Given the description of an element on the screen output the (x, y) to click on. 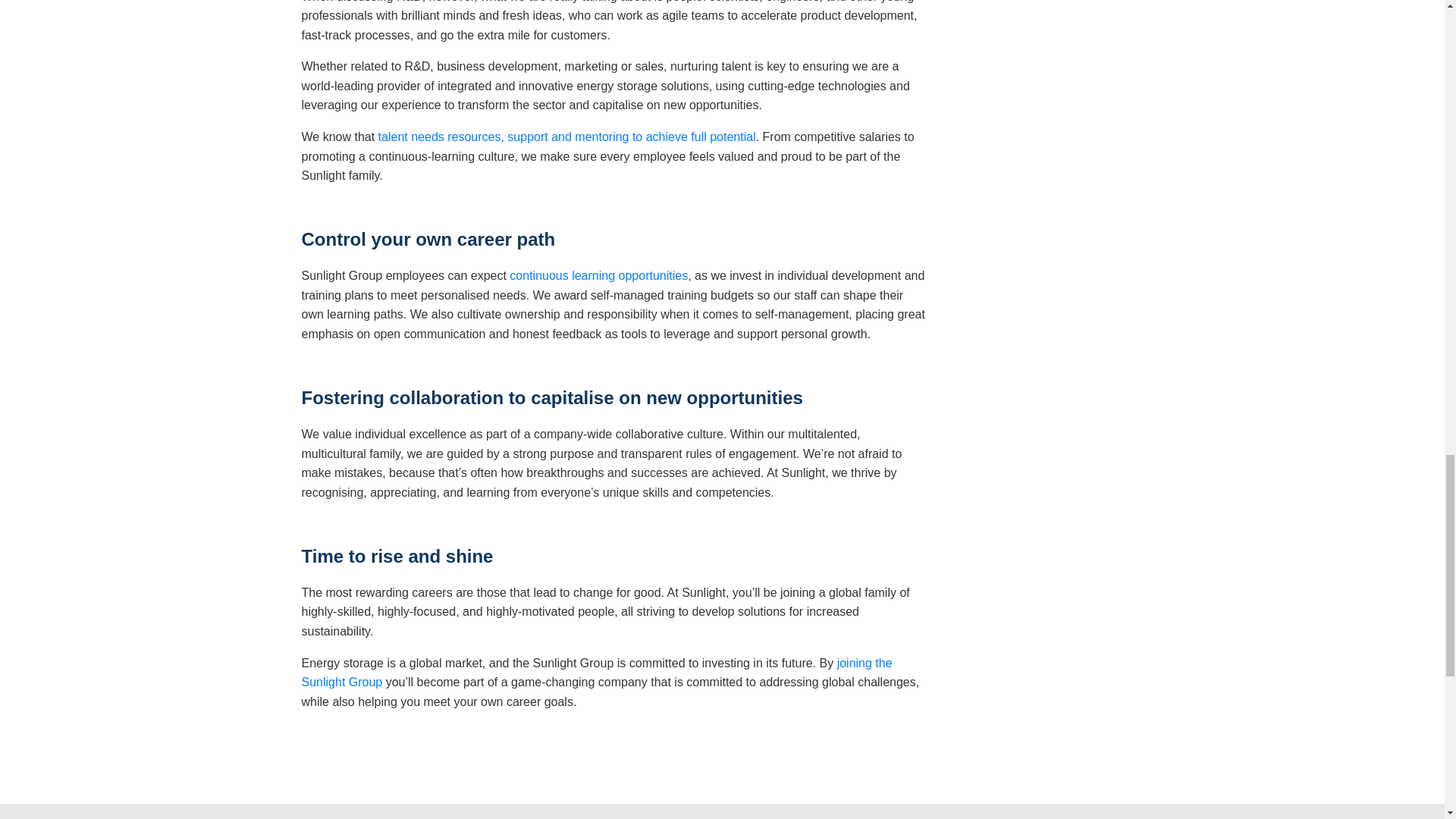
joining the Sunlight Group (596, 672)
continuous learning opportunities (598, 275)
